Given the description of an element on the screen output the (x, y) to click on. 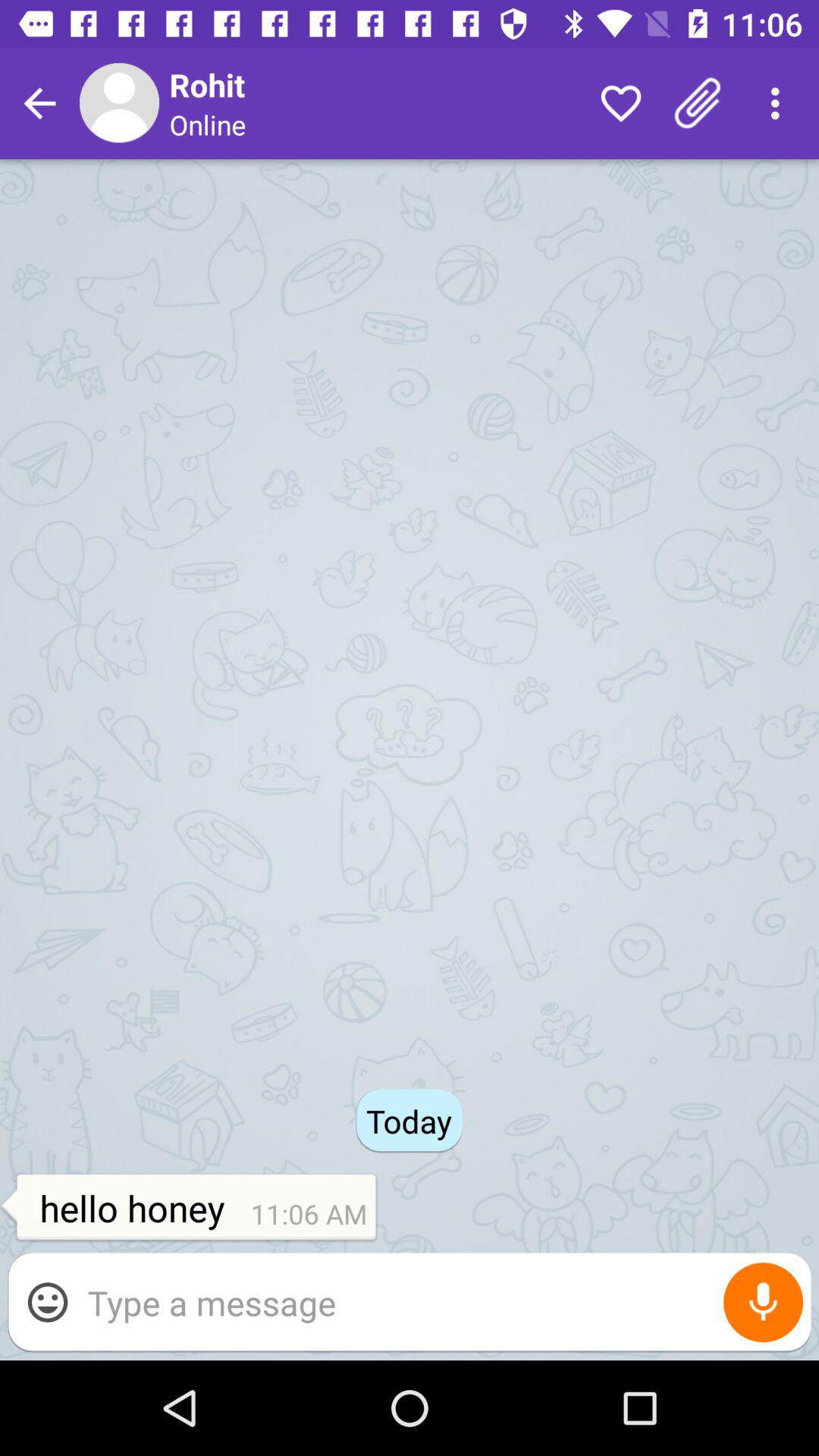
insert emojis (47, 1302)
